Given the description of an element on the screen output the (x, y) to click on. 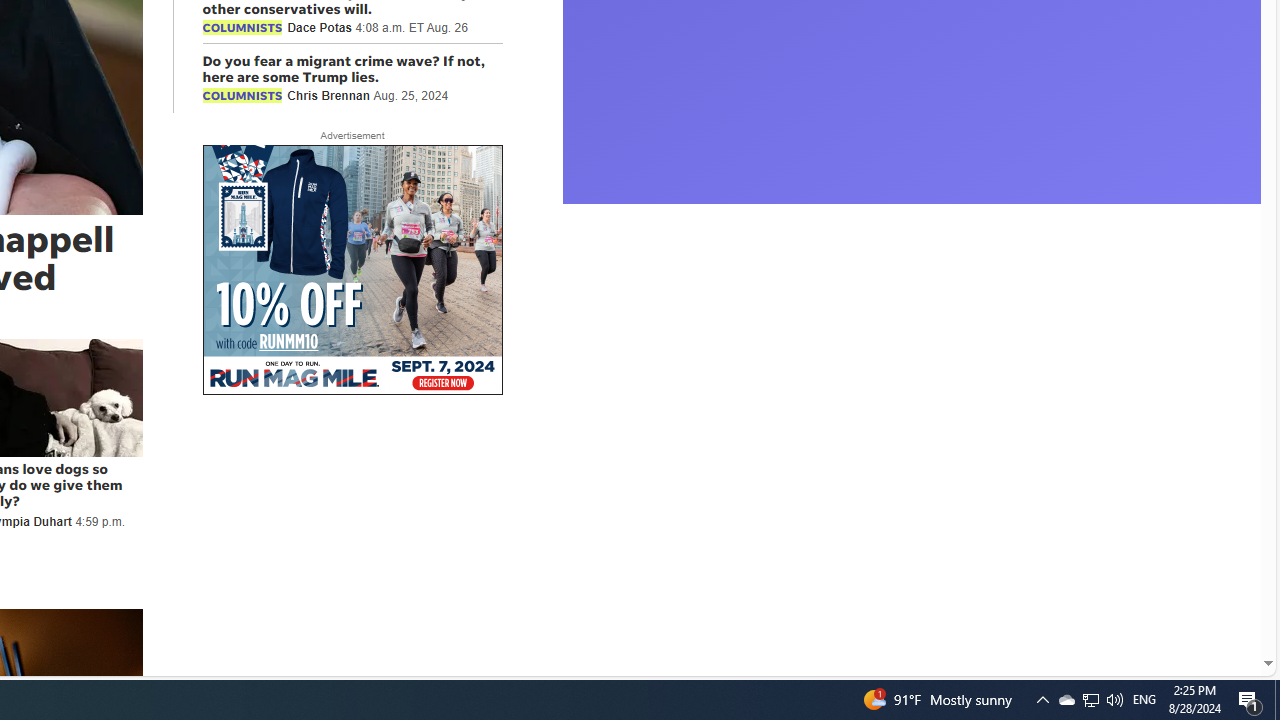
AutomationID: aw0 (352, 271)
